Given the description of an element on the screen output the (x, y) to click on. 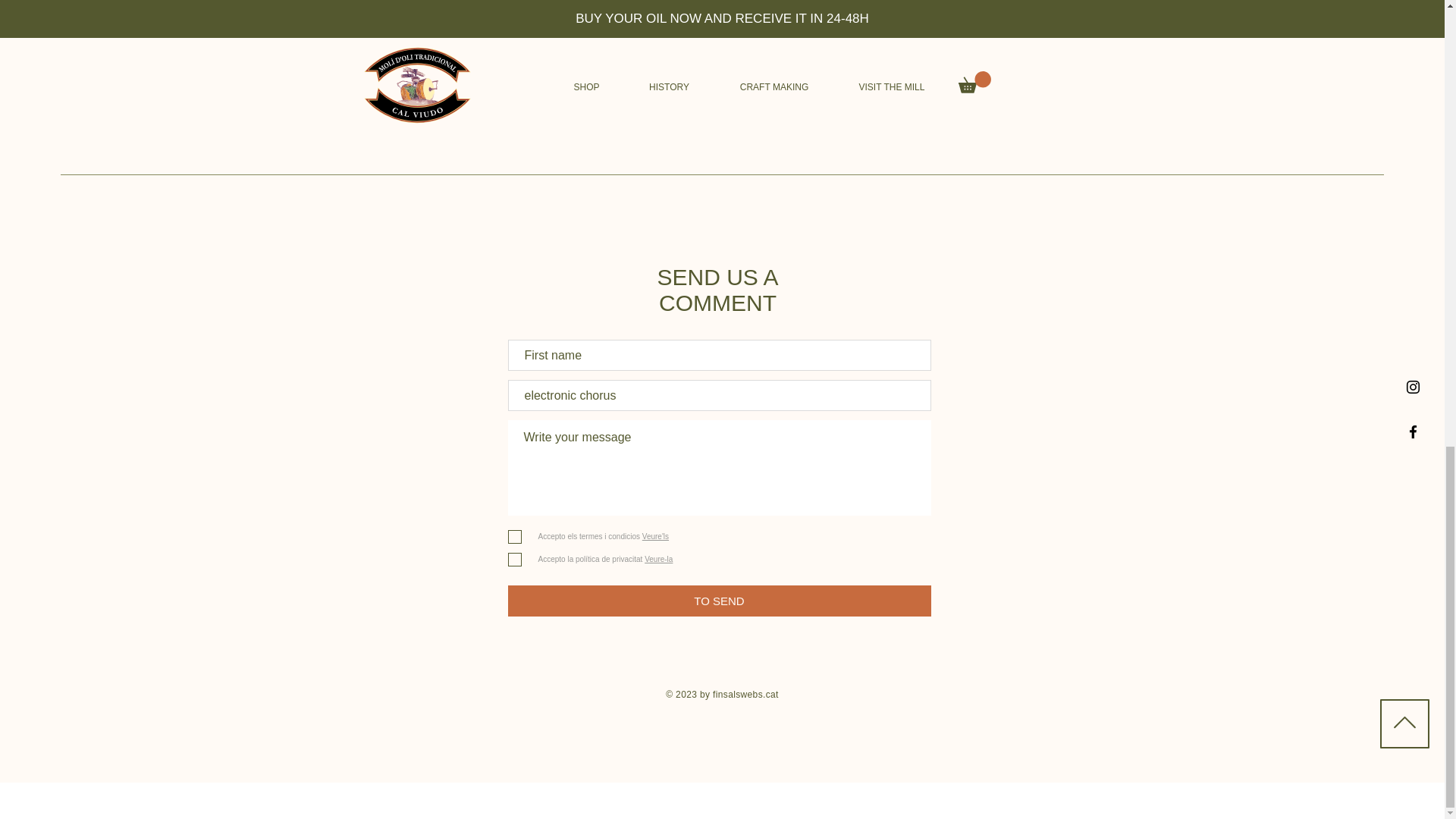
TO SEND (719, 600)
Veure-la (657, 559)
Veure'ls (654, 536)
